Given the description of an element on the screen output the (x, y) to click on. 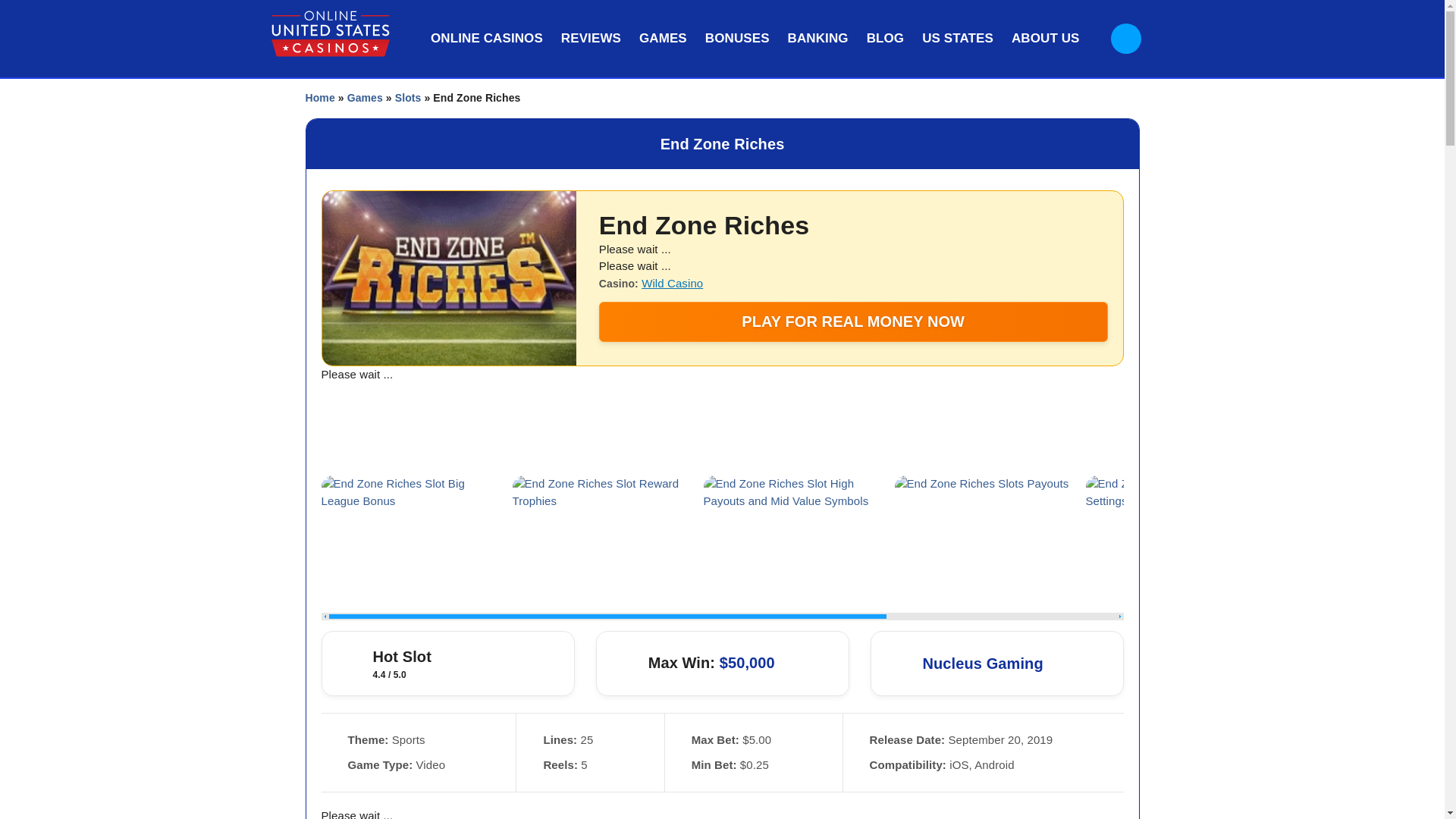
Return to homepage (330, 33)
GAMES (662, 38)
REVIEWS (590, 38)
BONUSES (736, 38)
BANKING (817, 38)
BLOG (885, 38)
ONLINE CASINOS (486, 38)
